Given the description of an element on the screen output the (x, y) to click on. 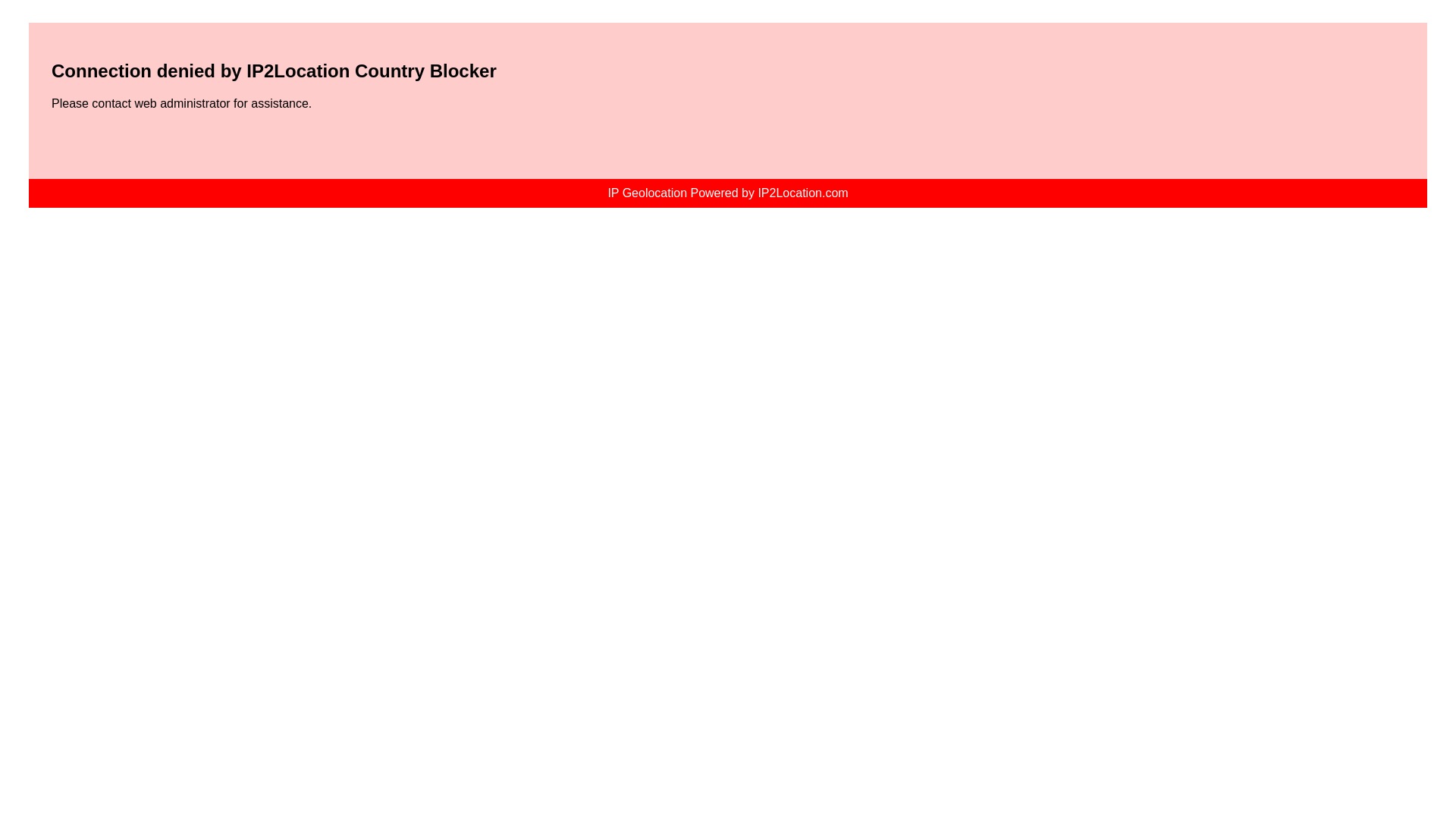
IP Geolocation Powered by IP2Location.com (727, 192)
